Given the description of an element on the screen output the (x, y) to click on. 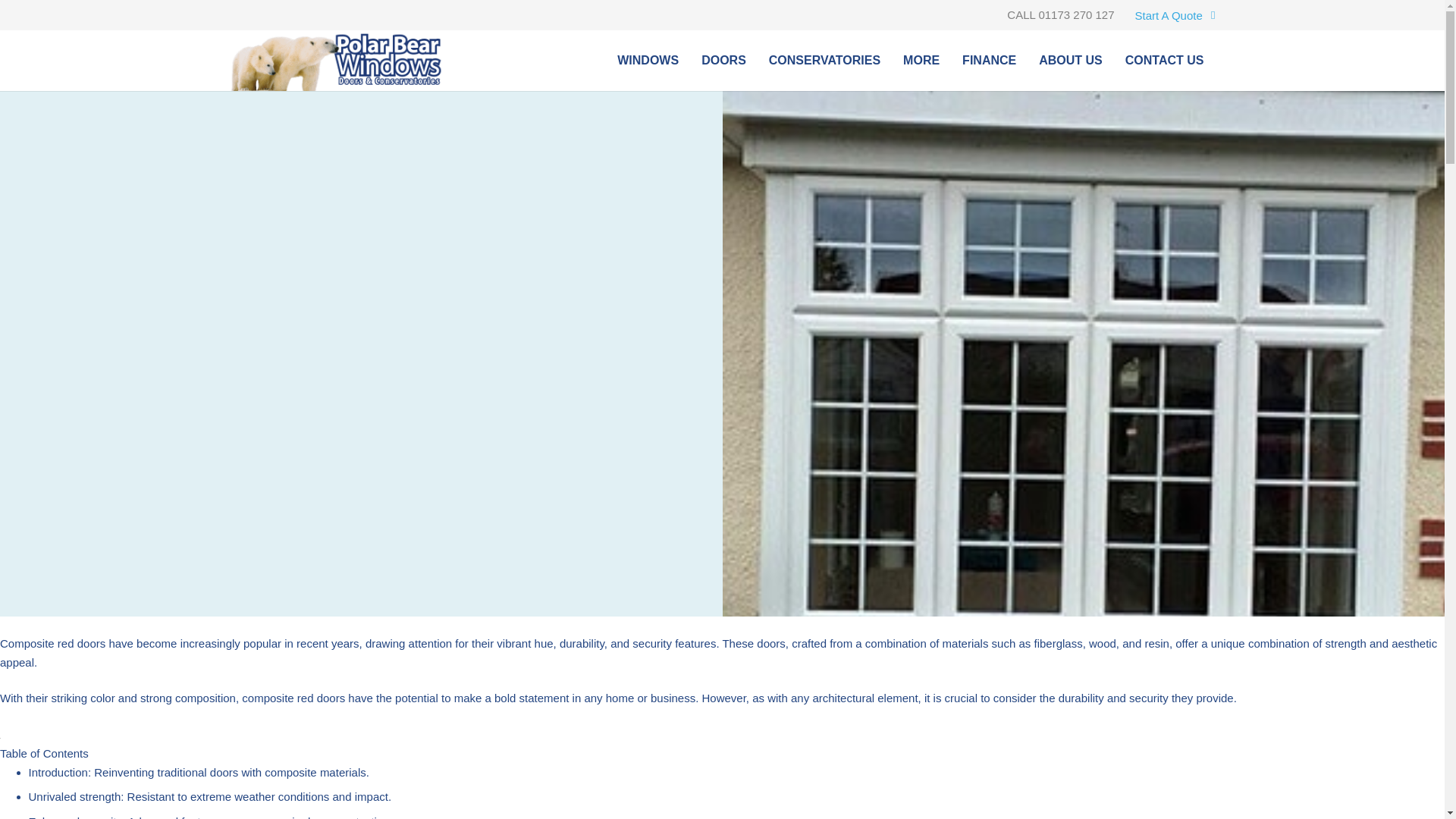
Start A Quote (1173, 14)
CALL 01173 270 127 (1060, 14)
